Given the description of an element on the screen output the (x, y) to click on. 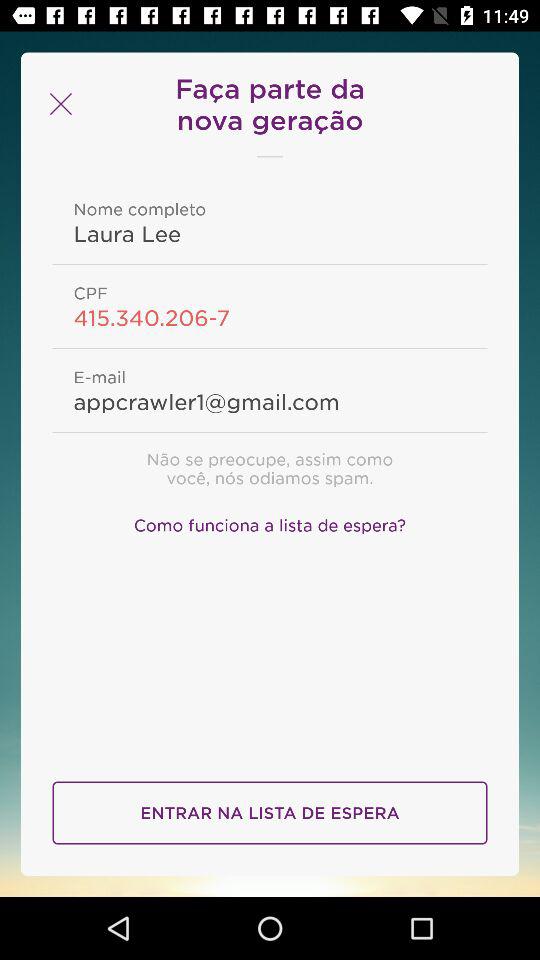
quit the tap (58, 103)
